Given the description of an element on the screen output the (x, y) to click on. 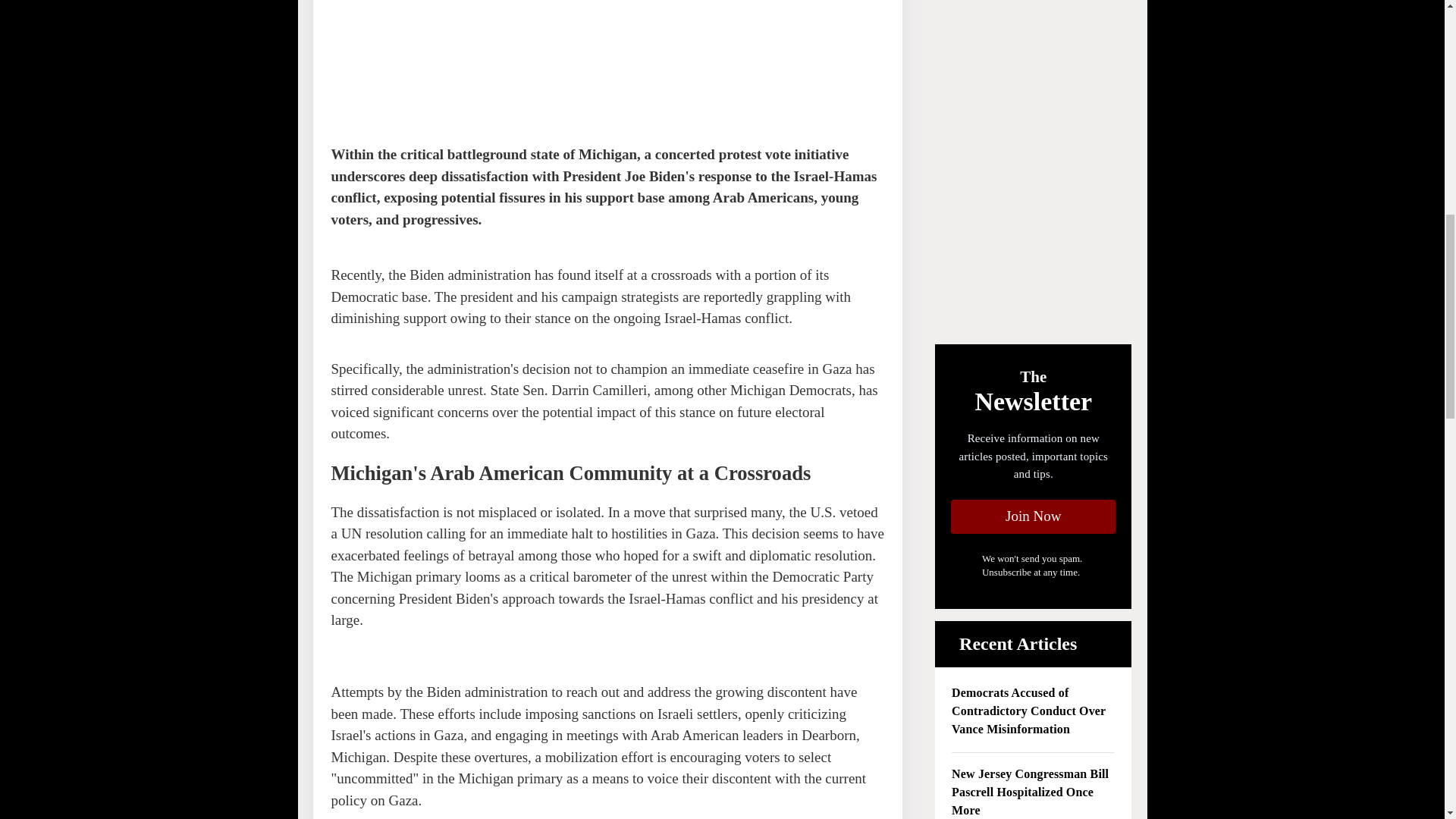
Advertisement (443, 61)
New Jersey Congressman Bill Pascrell Hospitalized Once More (1033, 791)
Join Now (1032, 516)
